Given the description of an element on the screen output the (x, y) to click on. 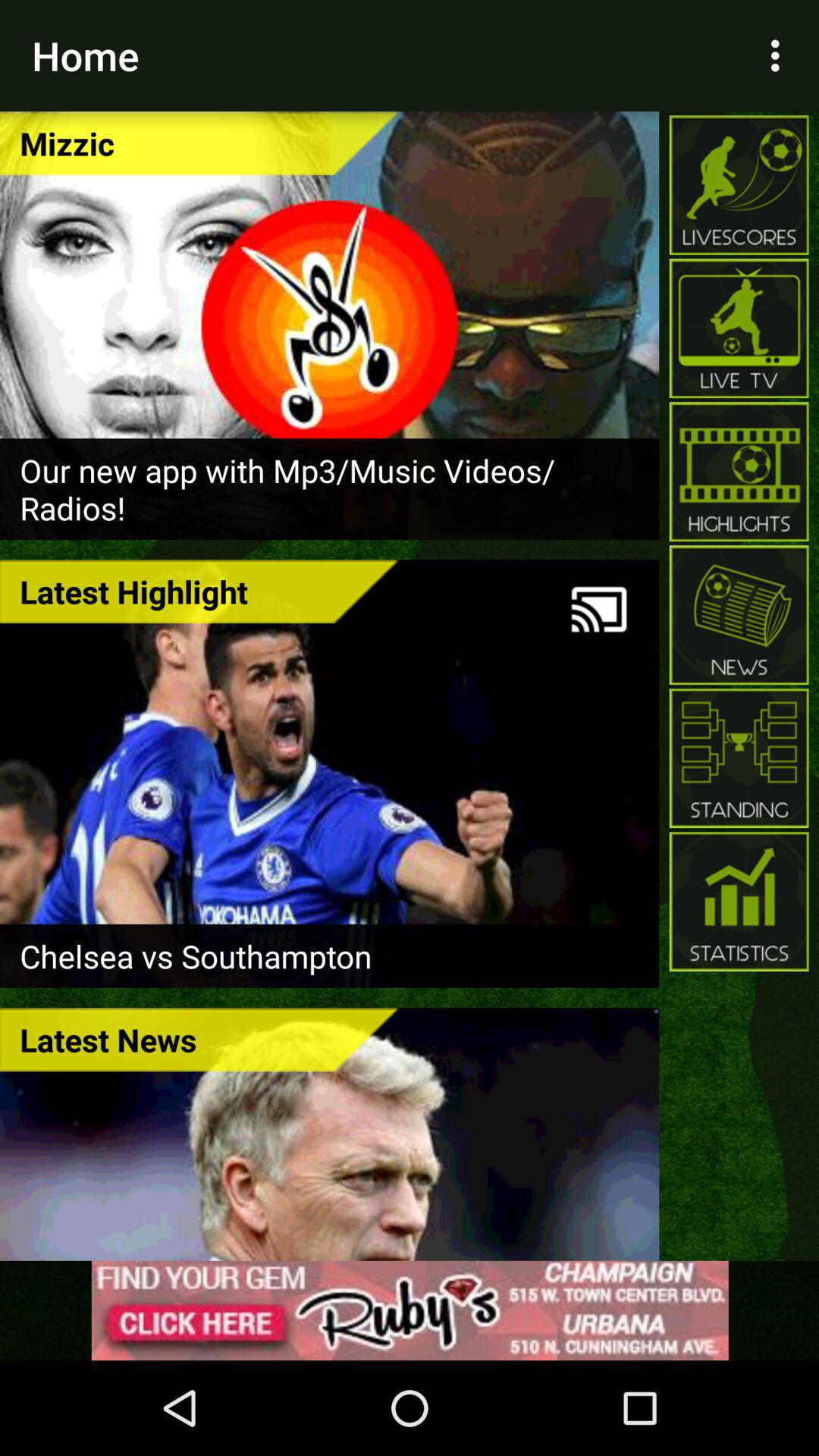
turn on the item on the left (199, 591)
